Given the description of an element on the screen output the (x, y) to click on. 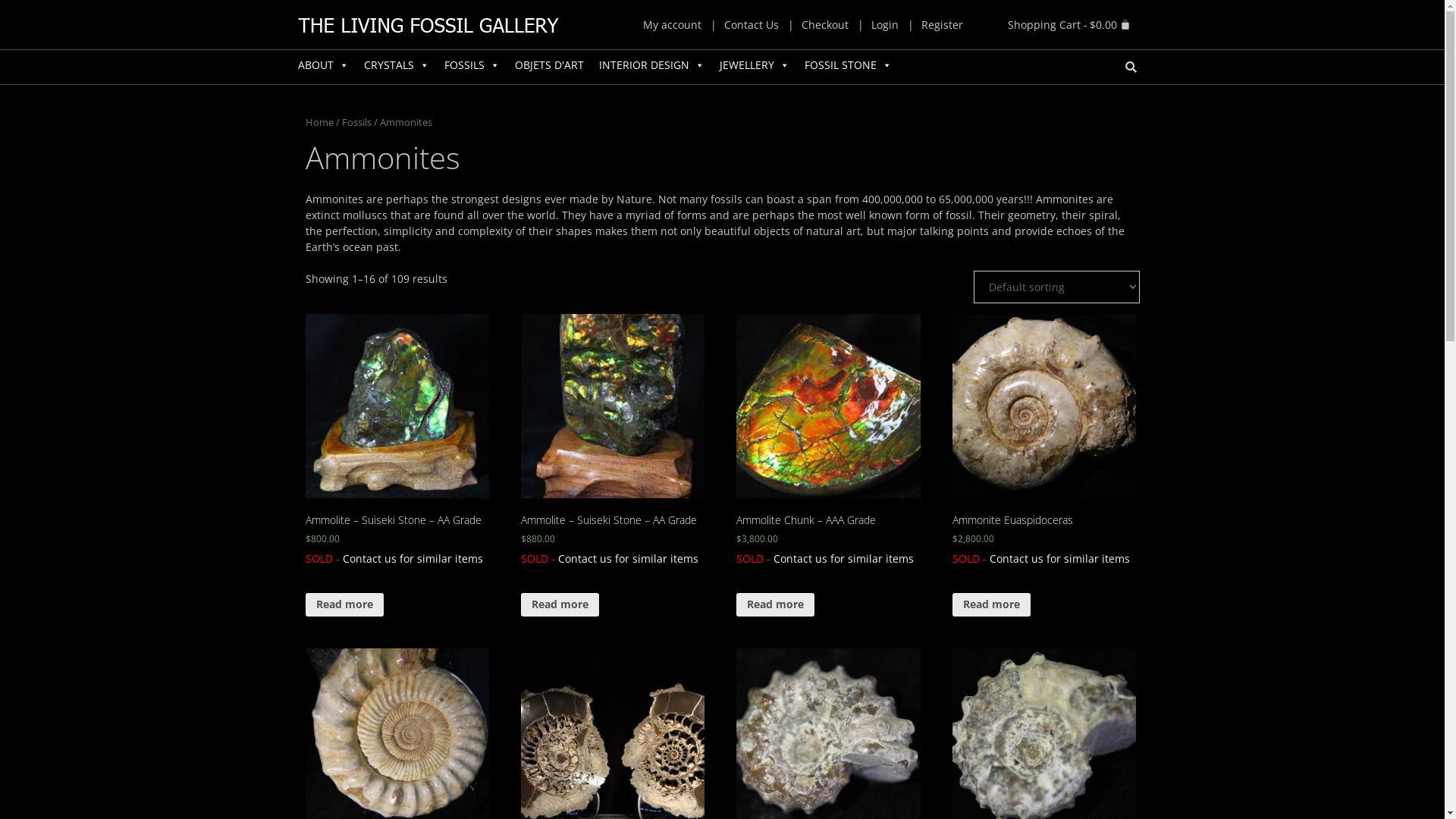
CRYSTALS Element type: text (396, 65)
ABOUT Element type: text (322, 65)
Home Element type: text (318, 121)
Fossils Element type: text (355, 121)
Read more Element type: text (343, 604)
Login Element type: text (884, 24)
Contact us for similar items Element type: text (412, 558)
Register Element type: text (942, 24)
OBJETS D'ART Element type: text (548, 65)
Search Element type: hover (1127, 66)
Checkout Element type: text (824, 24)
Read more Element type: text (991, 604)
Read more Element type: text (775, 604)
Contact us for similar items Element type: text (843, 558)
JEWELLERY Element type: text (753, 65)
Contact us for similar items Element type: text (1059, 558)
$0.00 Element type: text (1068, 24)
Ammonite Euaspidoceras
$2,800.00 Element type: text (1044, 429)
FOSSIL STONE Element type: text (847, 65)
My account Element type: text (671, 24)
INTERIOR DESIGN Element type: text (651, 65)
Read more Element type: text (559, 604)
Contact Us Element type: text (751, 24)
Contact us for similar items Element type: text (628, 558)
FOSSILS Element type: text (471, 65)
